Given the description of an element on the screen output the (x, y) to click on. 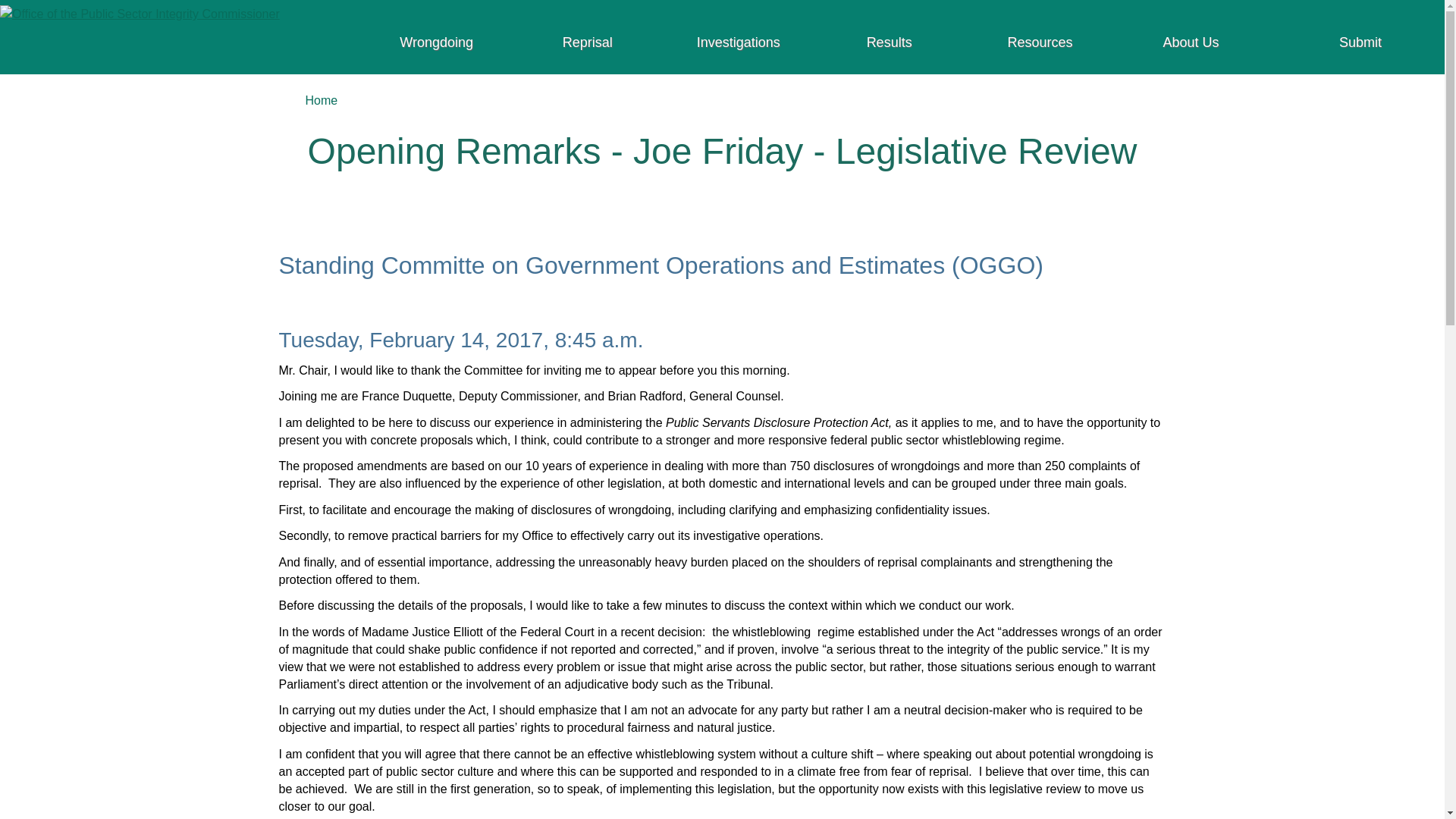
Resources (1039, 46)
Wrongdoing (436, 46)
Reprisal (587, 46)
Results (888, 46)
Open Search (1072, 94)
Home (139, 12)
Skip to main content (725, 11)
Investigations (737, 46)
About Us (1190, 46)
